Given the description of an element on the screen output the (x, y) to click on. 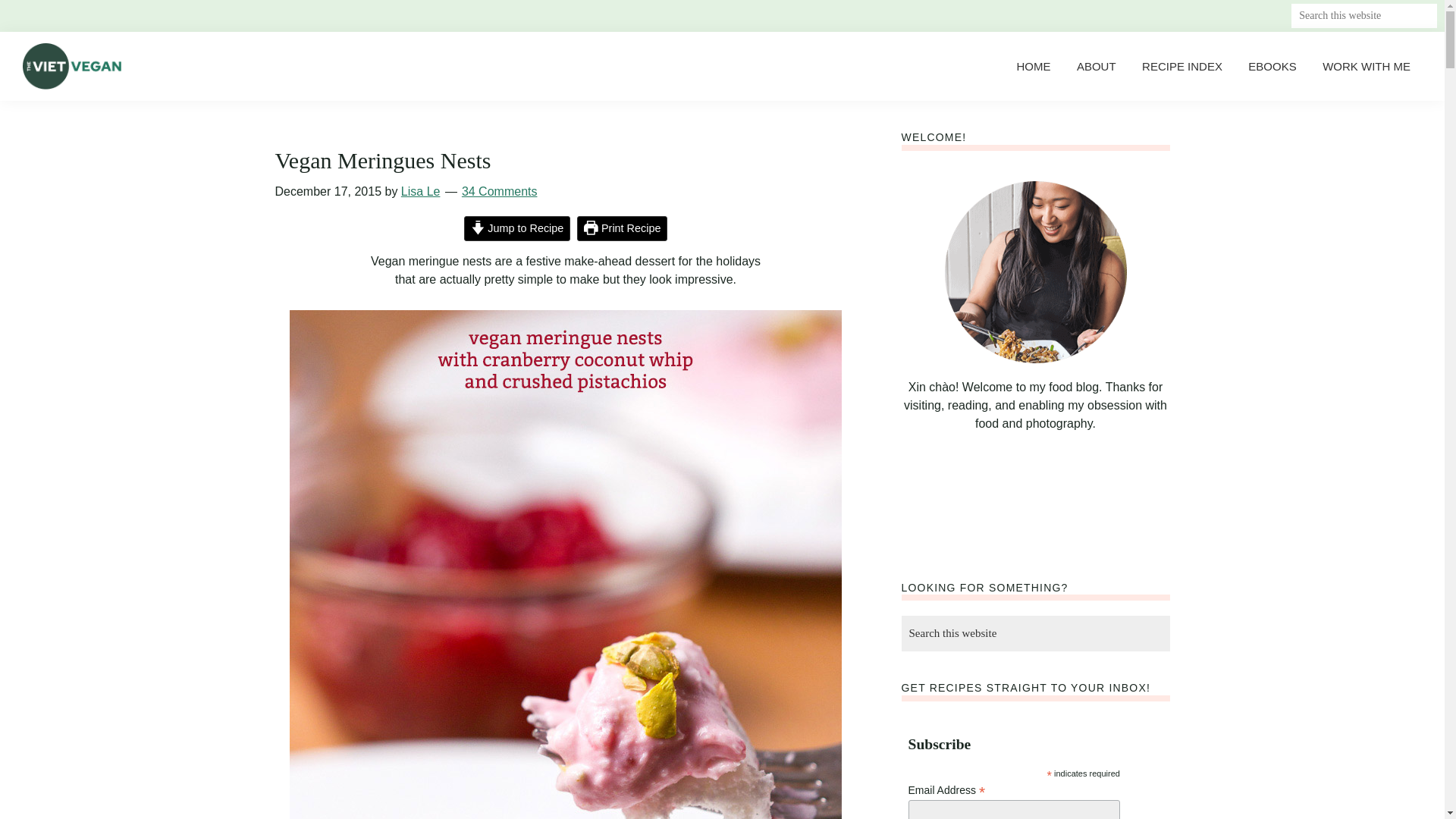
RECIPE INDEX (1182, 66)
ABOUT (1095, 66)
Print Recipe (621, 228)
Lisa Le (421, 191)
EBOOKS (1271, 66)
WORK WITH ME (1366, 66)
HOME (1032, 66)
34 Comments (499, 191)
Jump to Recipe (517, 228)
